Given the description of an element on the screen output the (x, y) to click on. 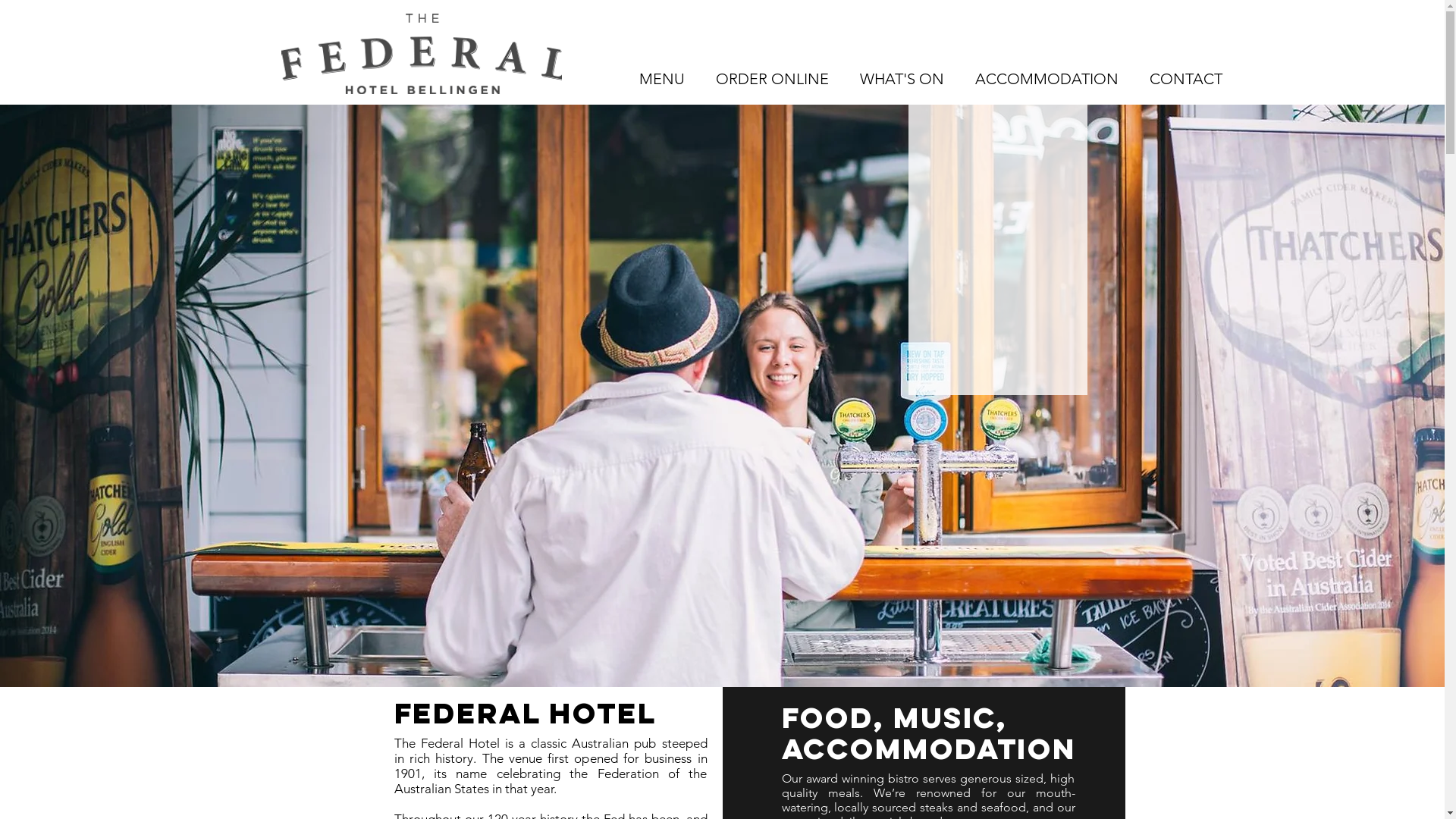
ORDER ONLINE Element type: text (772, 78)
WHAT'S ON Element type: text (902, 78)
CONTACT Element type: text (1186, 78)
Wix Hotels Element type: hover (997, 249)
MENU Element type: text (661, 78)
ACCOMMODATION Element type: text (1047, 78)
